Given the description of an element on the screen output the (x, y) to click on. 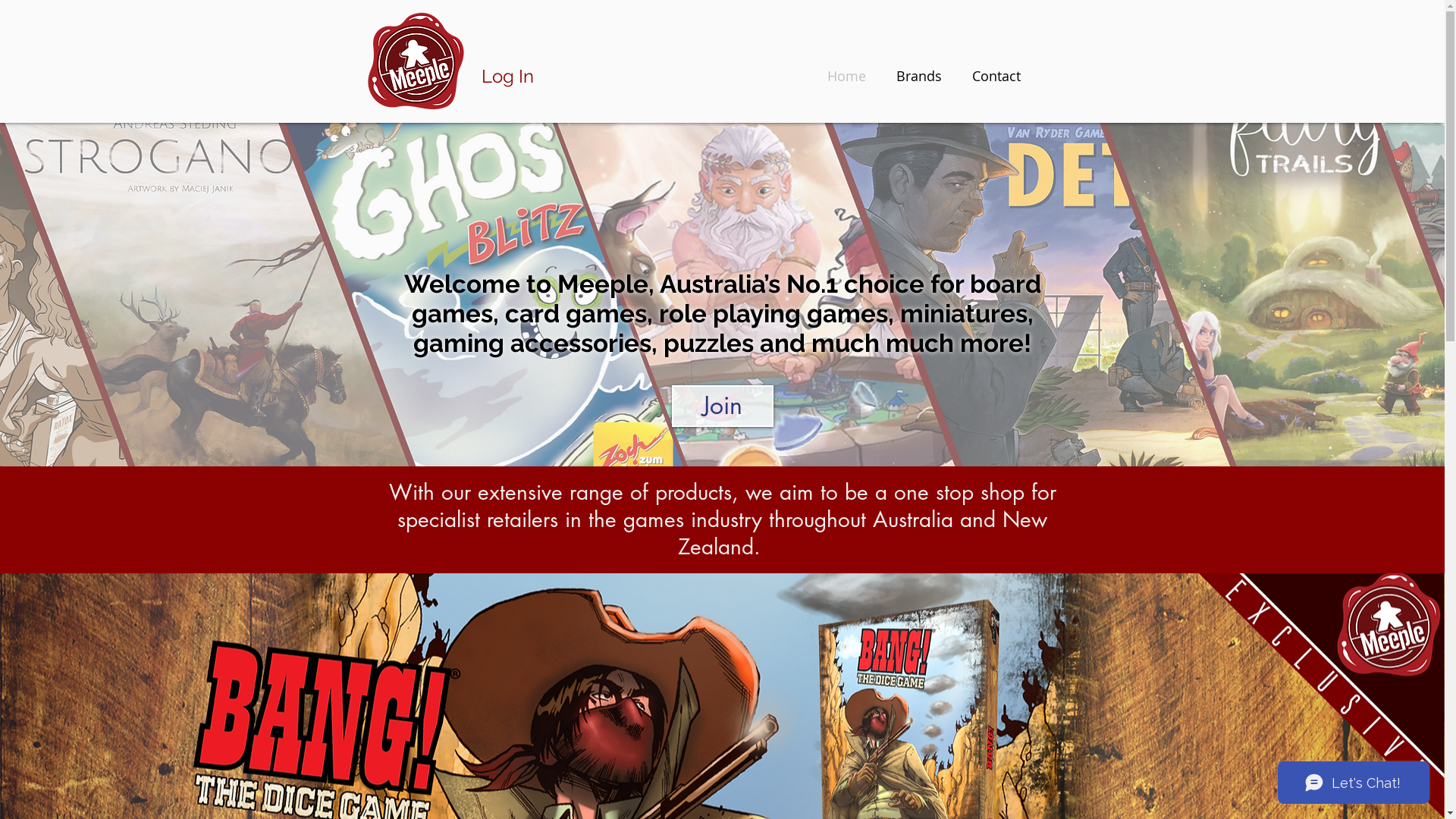
Log In Element type: text (507, 76)
Home Element type: text (845, 76)
Contact Element type: text (996, 76)
Join Element type: text (722, 405)
Brands Element type: text (919, 76)
